Given the description of an element on the screen output the (x, y) to click on. 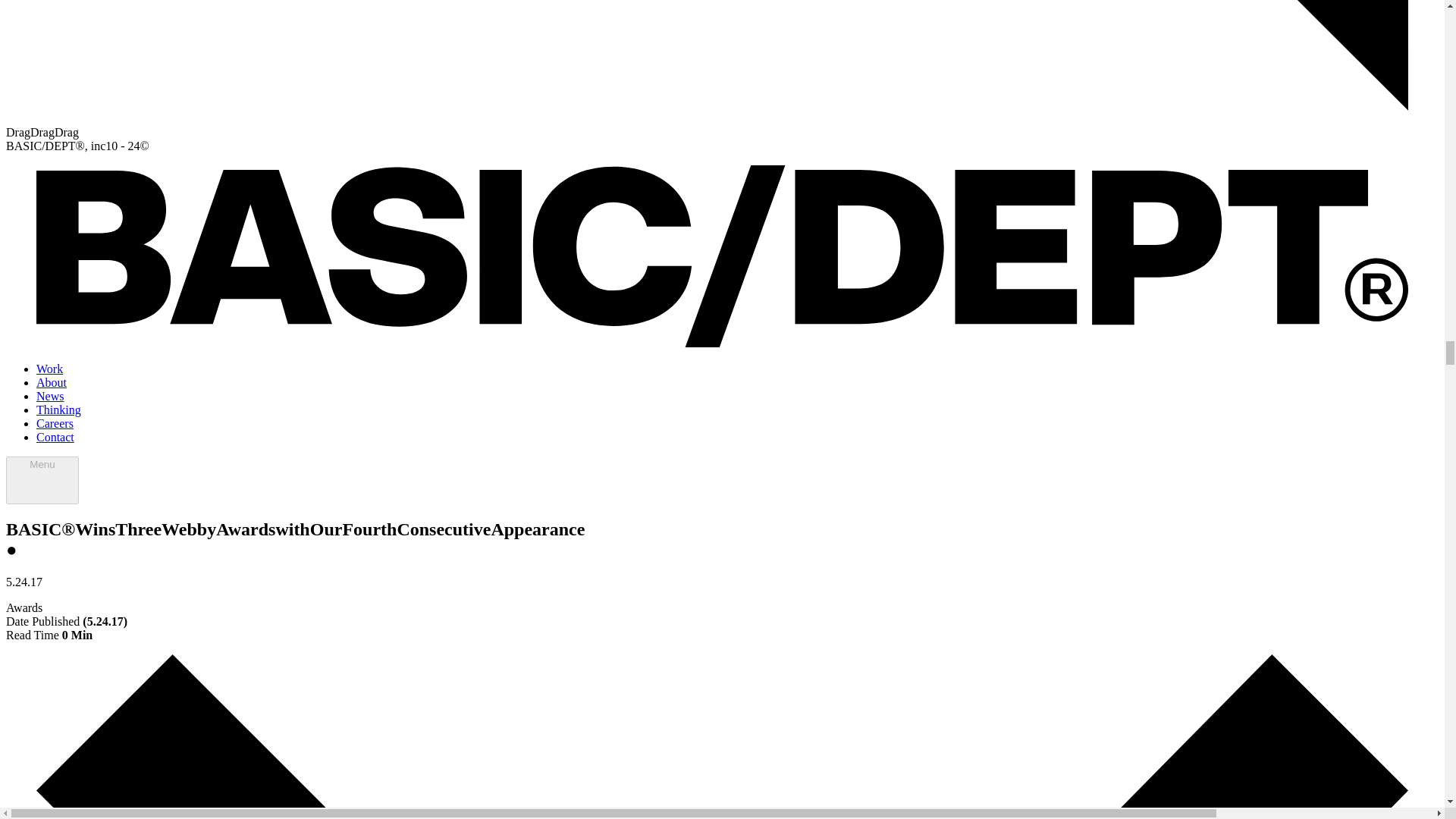
Contact (55, 436)
Menu (41, 480)
Menu (41, 480)
Thinking (58, 409)
News (50, 395)
Work (49, 368)
About (51, 382)
Careers (55, 422)
